Given the description of an element on the screen output the (x, y) to click on. 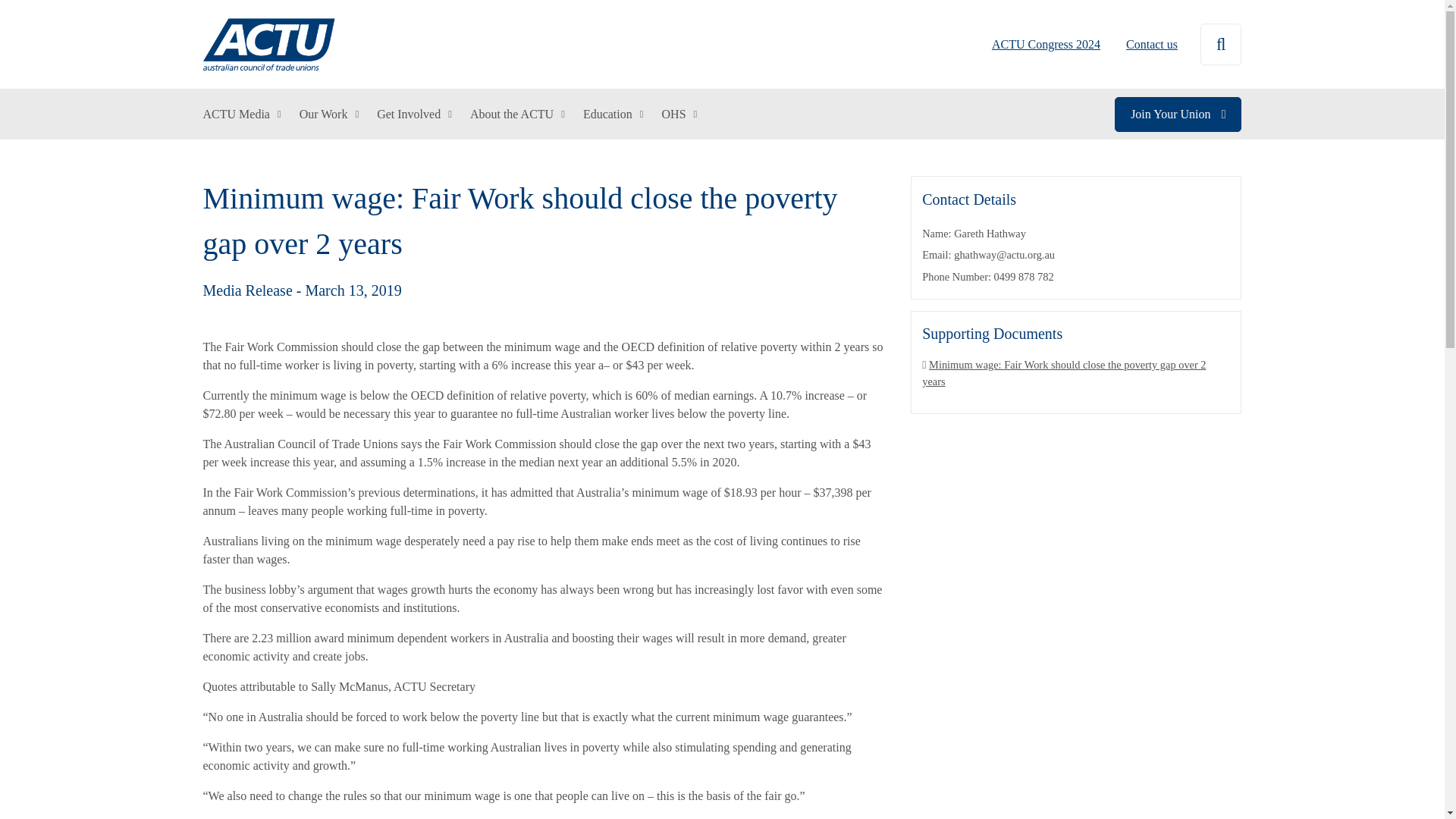
ACTU Congress 2024 (1045, 43)
Contact us (1146, 43)
Join Your Union (1178, 114)
ACTU Congress 2024 (1045, 43)
Contact us (1146, 43)
ACTU Media (242, 114)
